Given the description of an element on the screen output the (x, y) to click on. 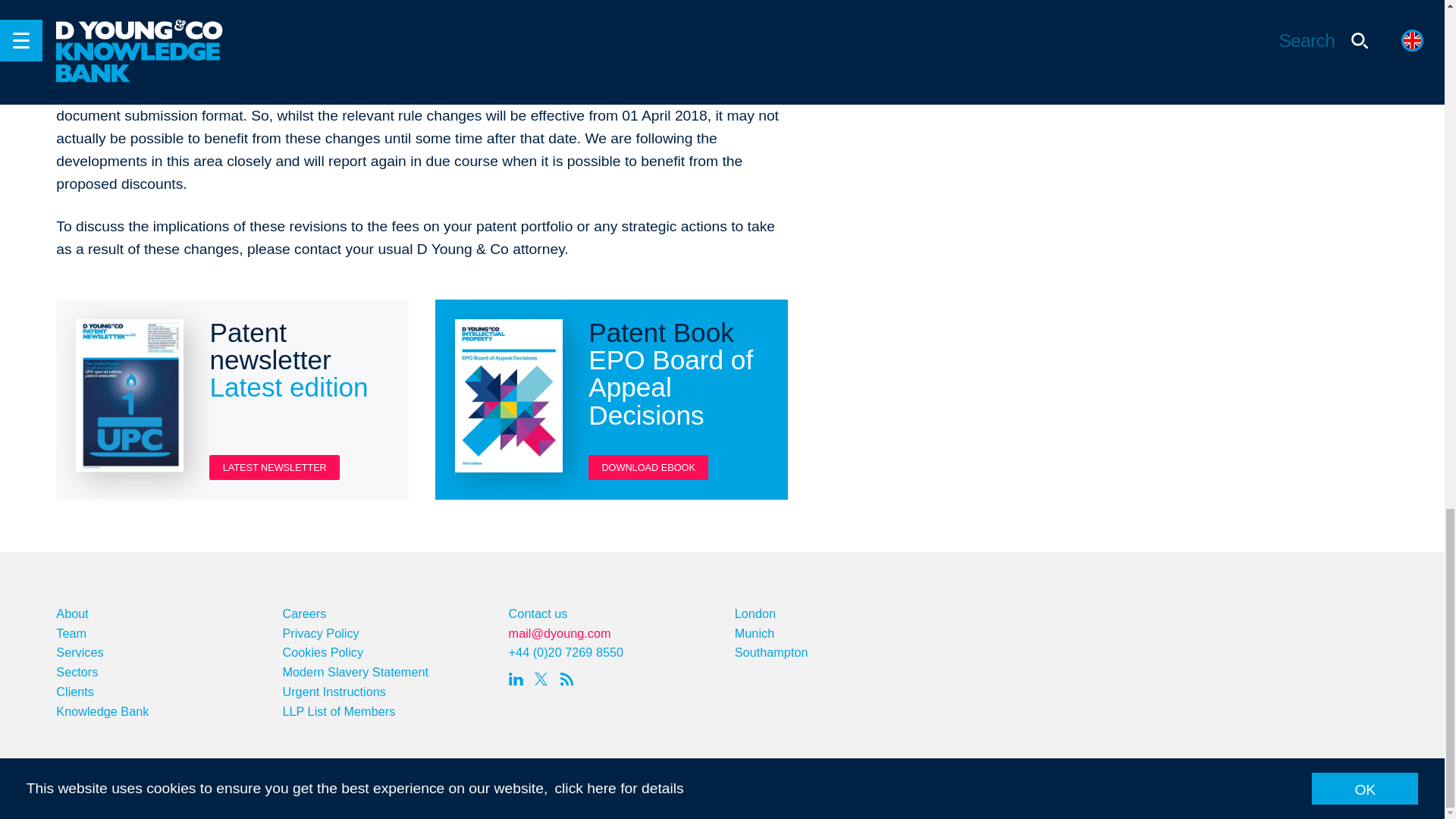
Link to D Young's RSS feed (570, 679)
Link to D Young's LinkedIn profile (518, 679)
Link to D Young's Twitter profile (544, 679)
